Given the description of an element on the screen output the (x, y) to click on. 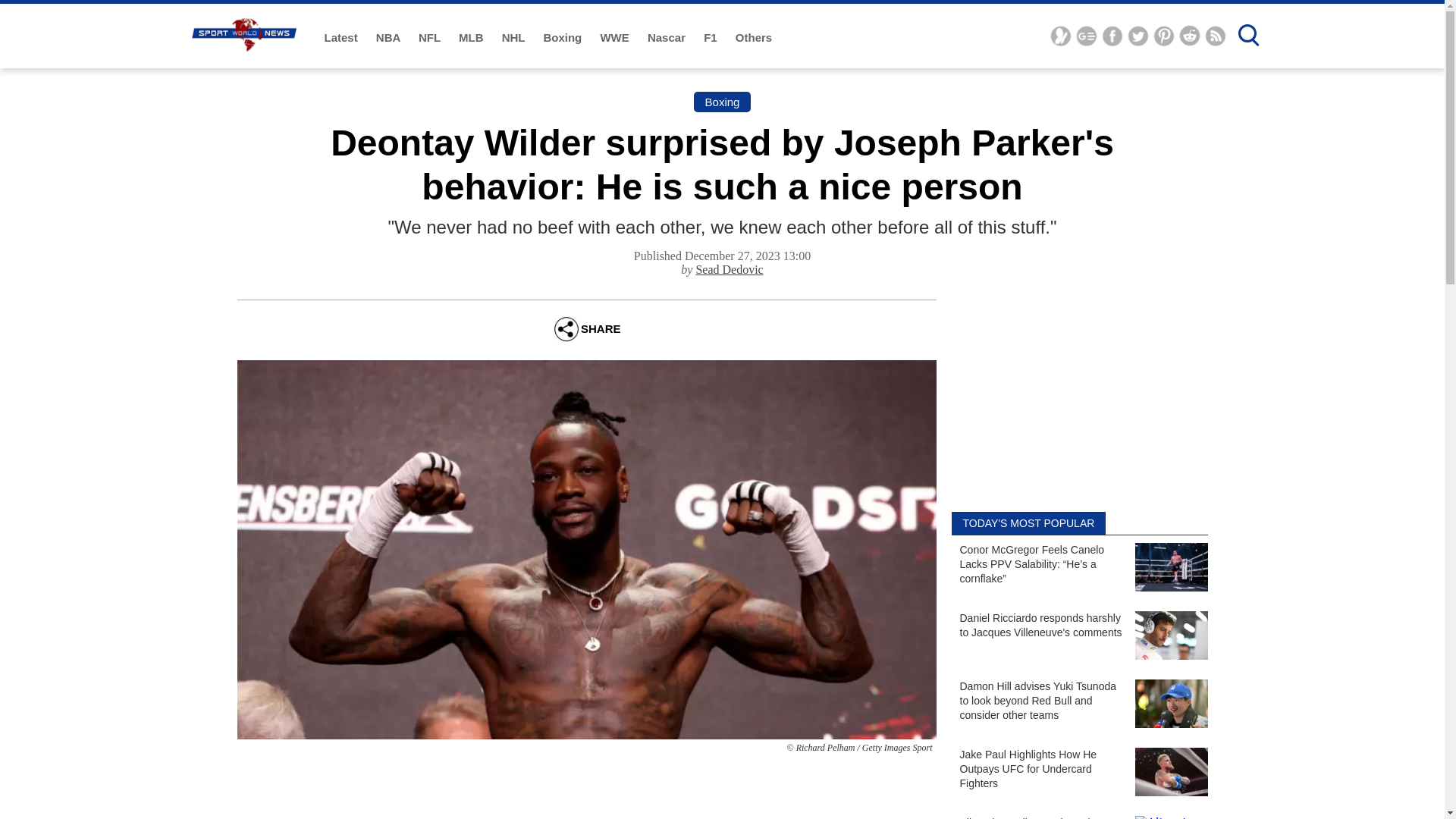
Nascar (667, 37)
Others (753, 37)
MLB (472, 37)
NFL (431, 37)
Latest (342, 37)
NBA (389, 37)
Boxing (564, 37)
WWE (615, 37)
F1 (711, 37)
NHL (515, 37)
